Given the description of an element on the screen output the (x, y) to click on. 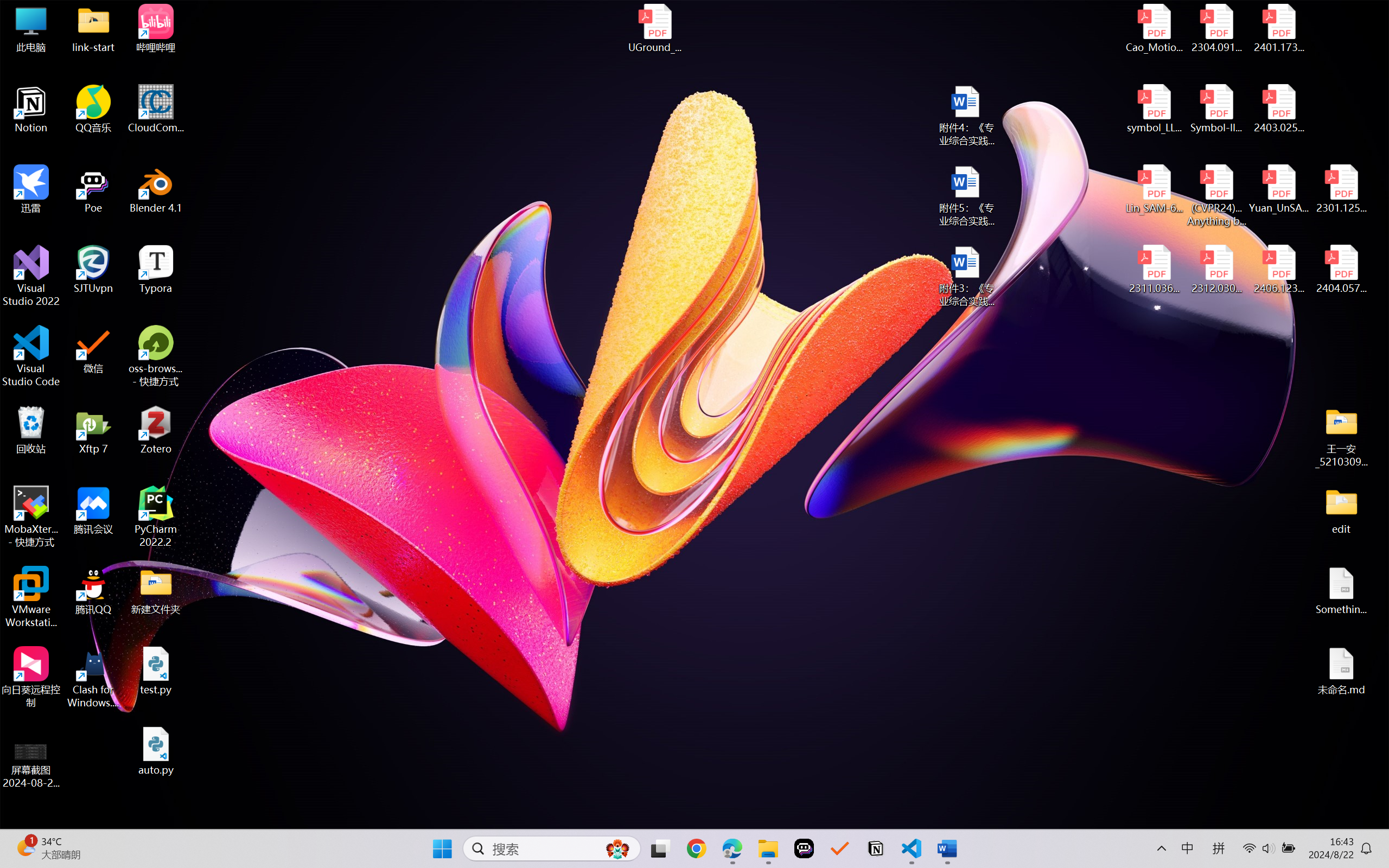
test.py (156, 670)
Something.md (1340, 591)
Visual Studio 2022 (31, 276)
CloudCompare (156, 109)
2403.02502v1.pdf (1278, 109)
symbol_LLM.pdf (1154, 109)
Blender 4.1 (156, 189)
